Given the description of an element on the screen output the (x, y) to click on. 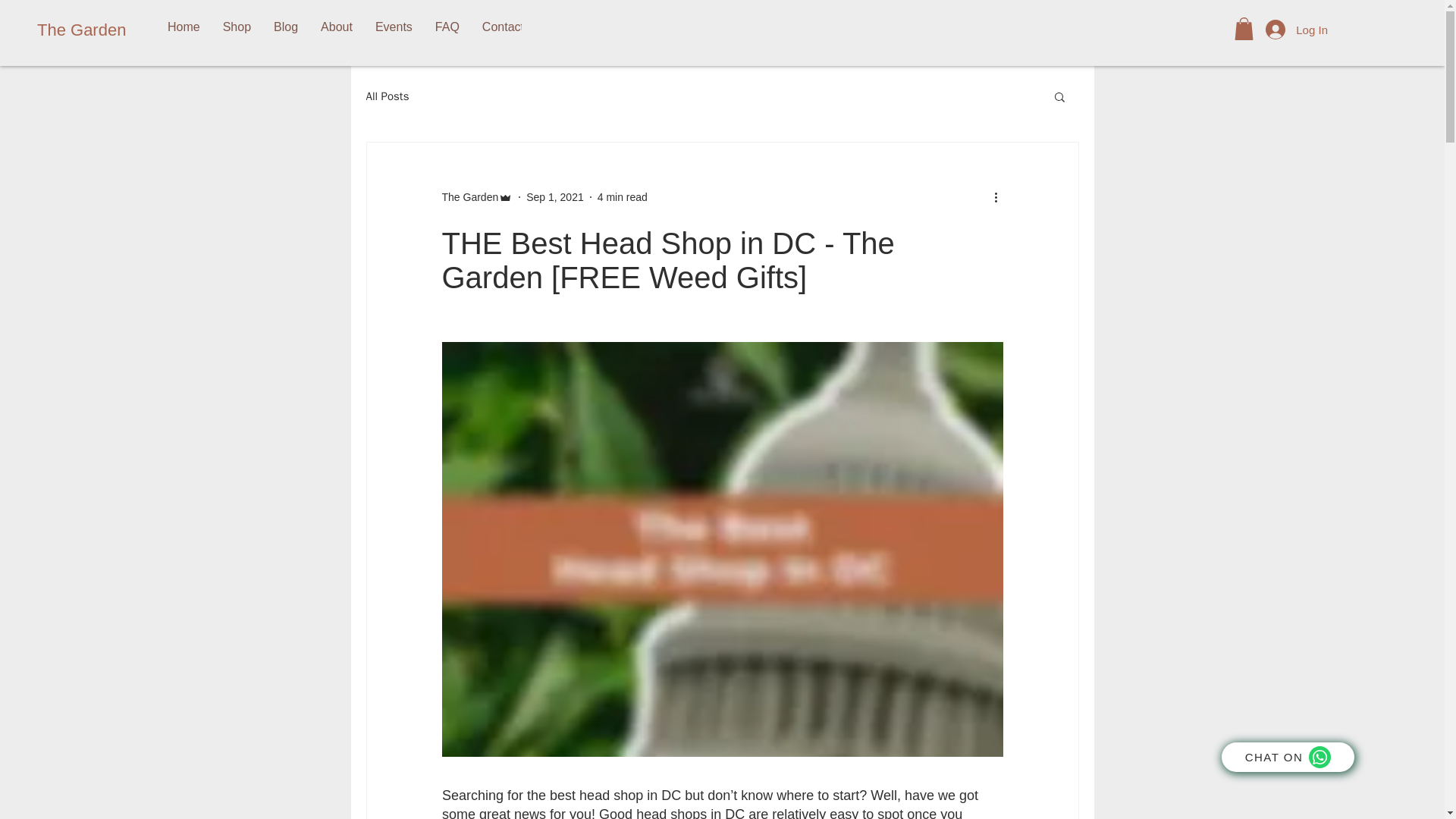
CHAT ON (1287, 757)
Log In (1296, 29)
Blog (285, 30)
All Posts (387, 96)
Shop (236, 30)
FAQ (446, 30)
The Garden (476, 197)
Sep 1, 2021 (554, 196)
About (336, 30)
Contact (502, 30)
The Garden (103, 30)
Events (393, 30)
4 min read (621, 196)
The Garden (469, 197)
Home (183, 30)
